Given the description of an element on the screen output the (x, y) to click on. 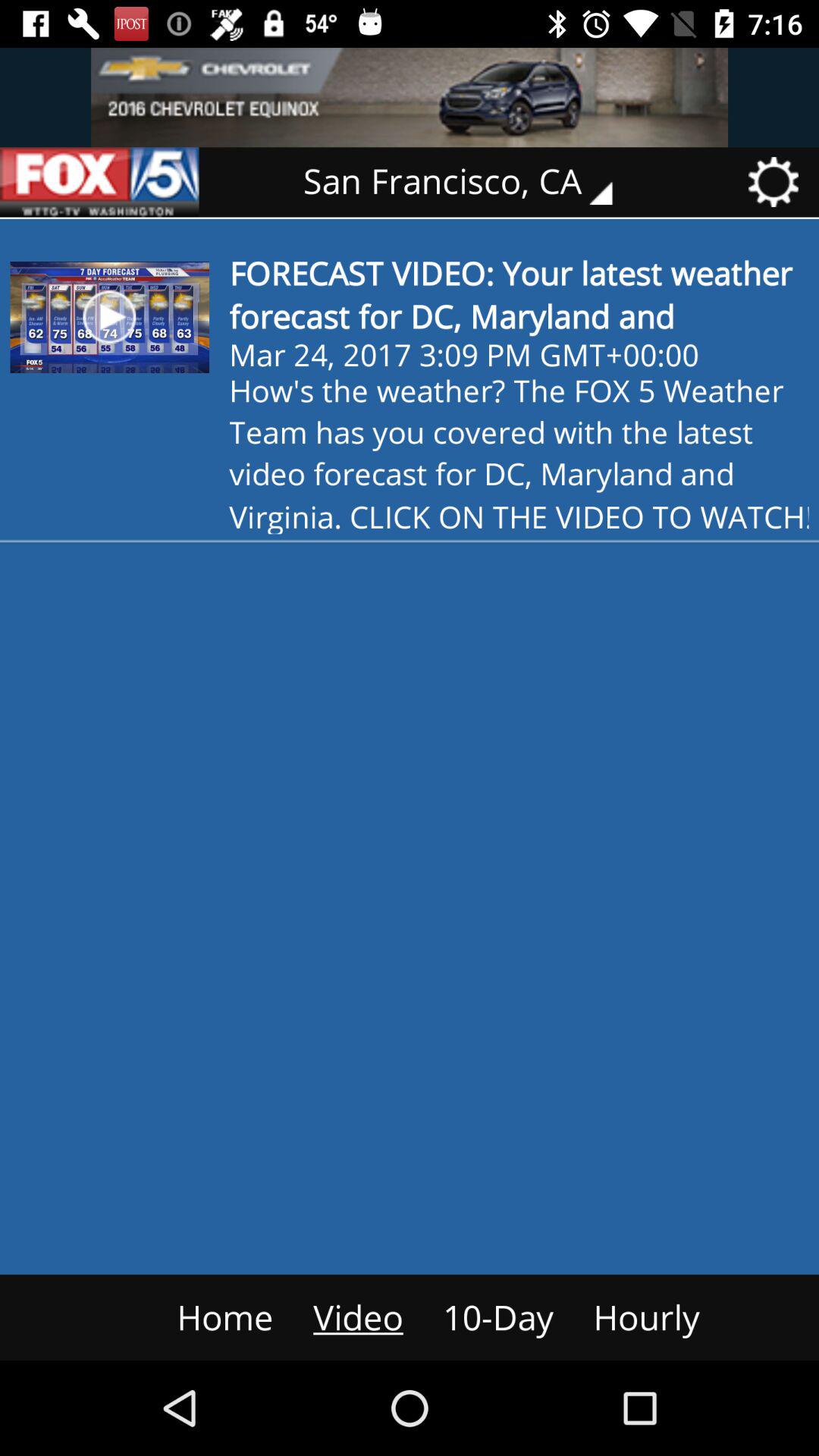
go back (99, 182)
